Given the description of an element on the screen output the (x, y) to click on. 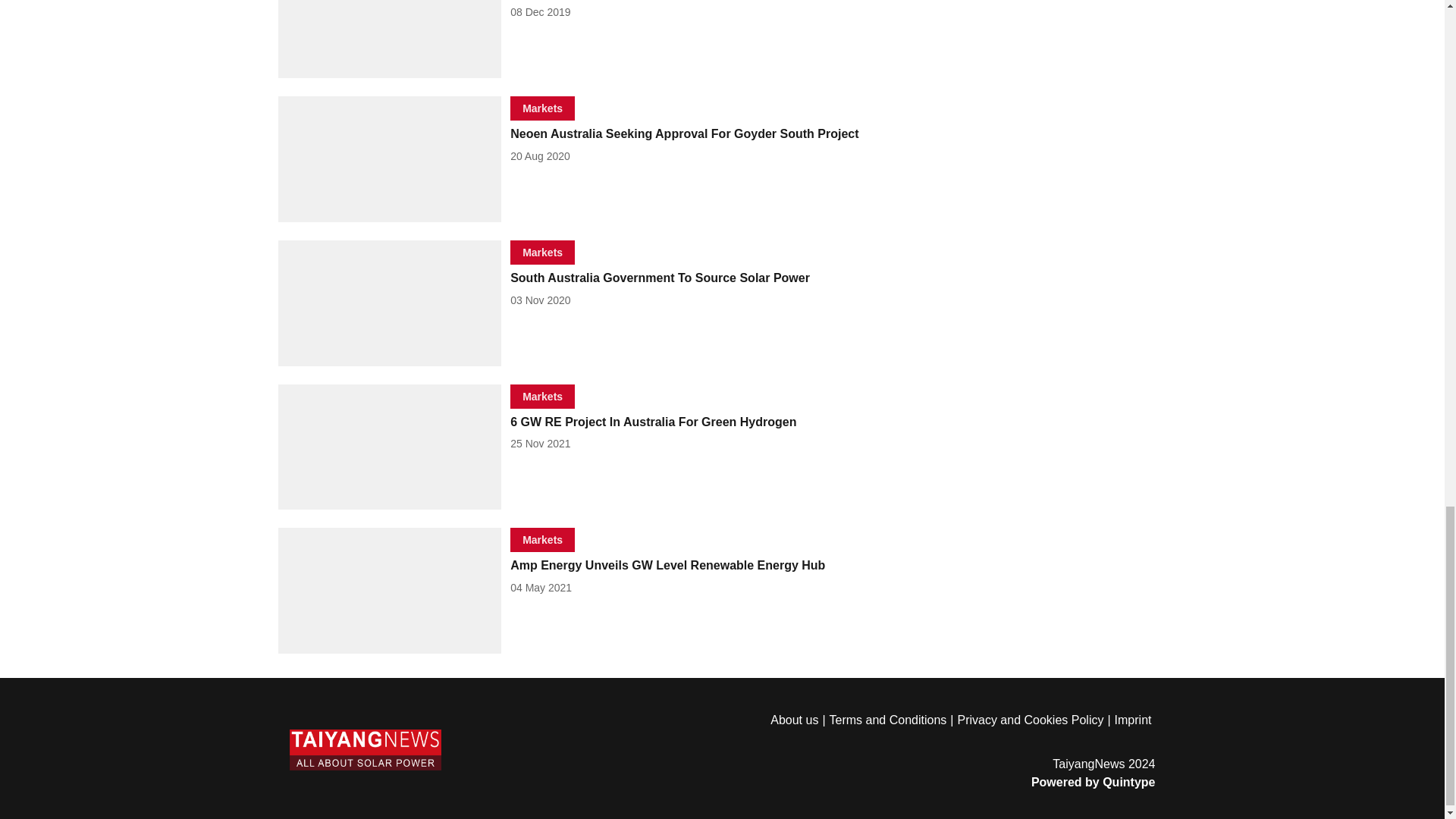
2021-05-04 11:53 (541, 587)
2021-11-25 15:42 (540, 443)
2020-08-20 12:57 (540, 155)
2019-12-08 07:31 (540, 11)
2020-11-03 12:12 (540, 300)
